Given the description of an element on the screen output the (x, y) to click on. 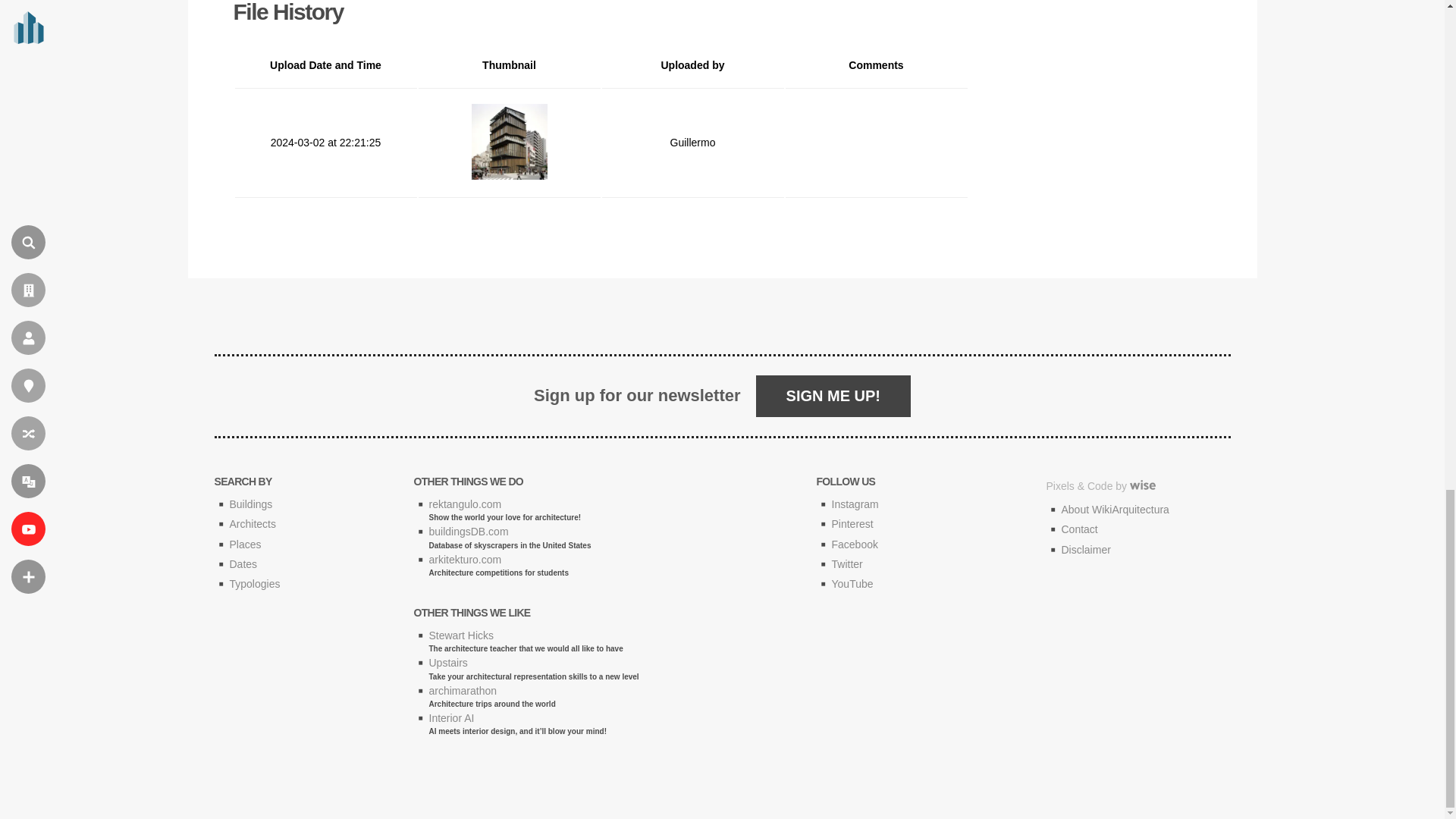
SIGN ME UP! (833, 395)
Buildings (250, 503)
Architects (251, 523)
